Given the description of an element on the screen output the (x, y) to click on. 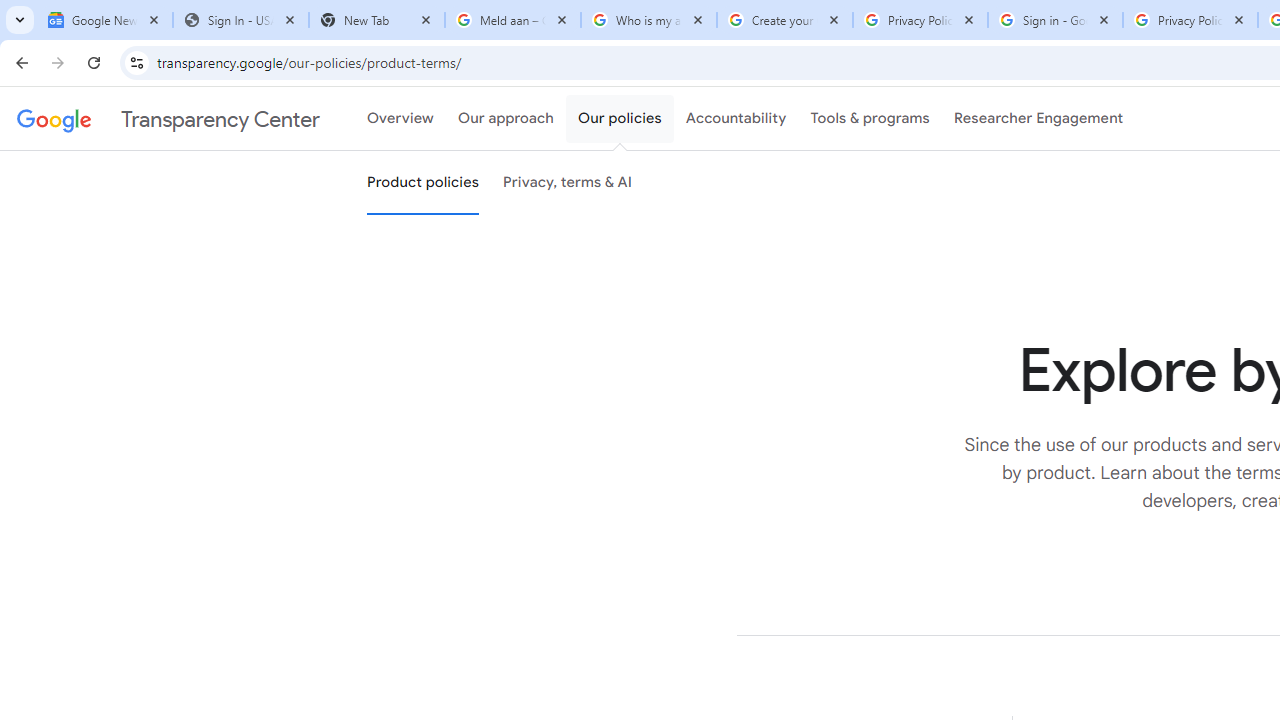
Product policies (422, 183)
Google News (104, 20)
New Tab (376, 20)
Accountability (735, 119)
Our policies (619, 119)
Sign In - USA TODAY (240, 20)
Researcher Engagement (1038, 119)
